Given the description of an element on the screen output the (x, y) to click on. 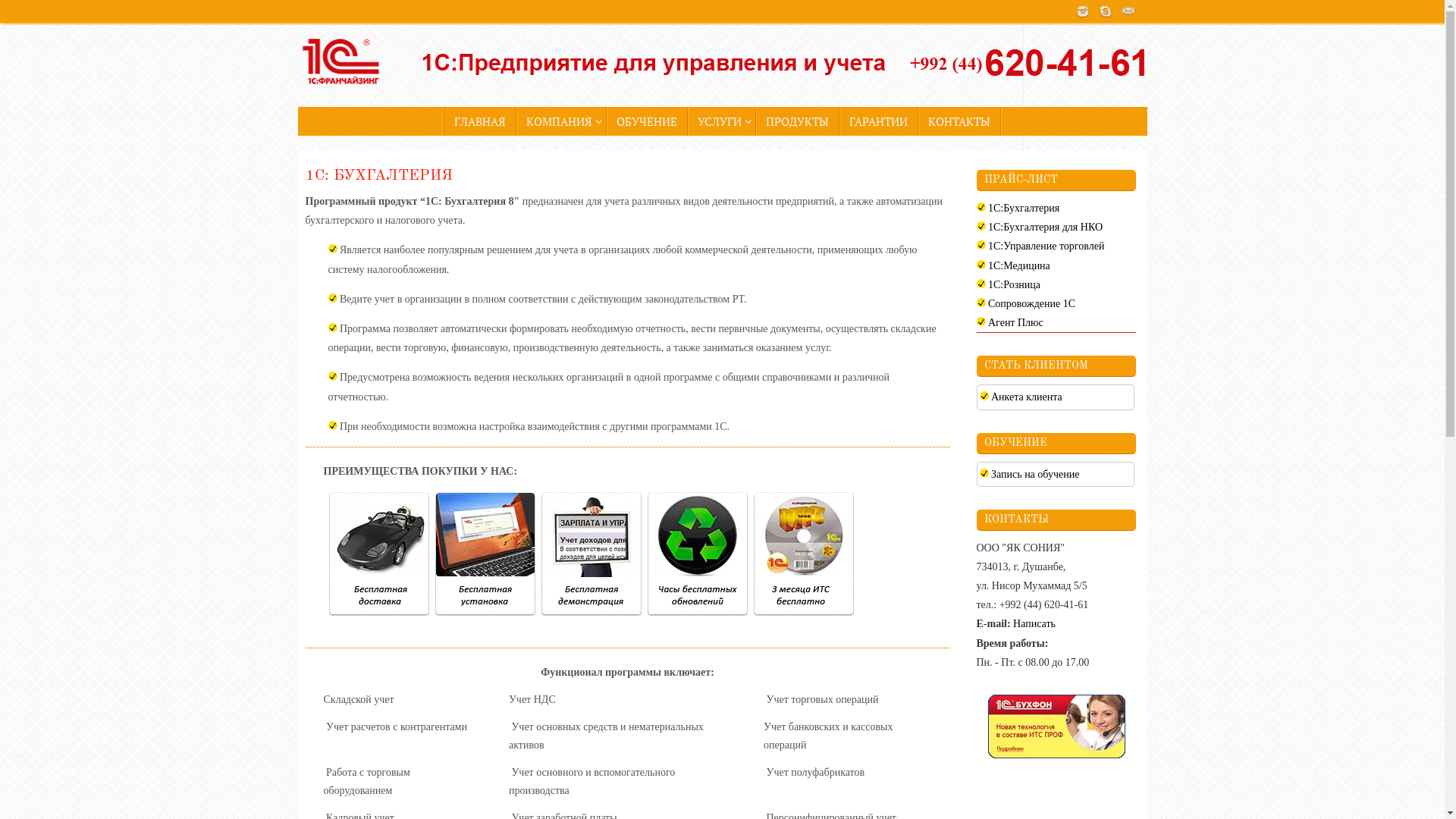
Mail Element type: hover (1127, 11)
Skype Element type: hover (1104, 11)
Instagram Element type: hover (1081, 11)
